Given the description of an element on the screen output the (x, y) to click on. 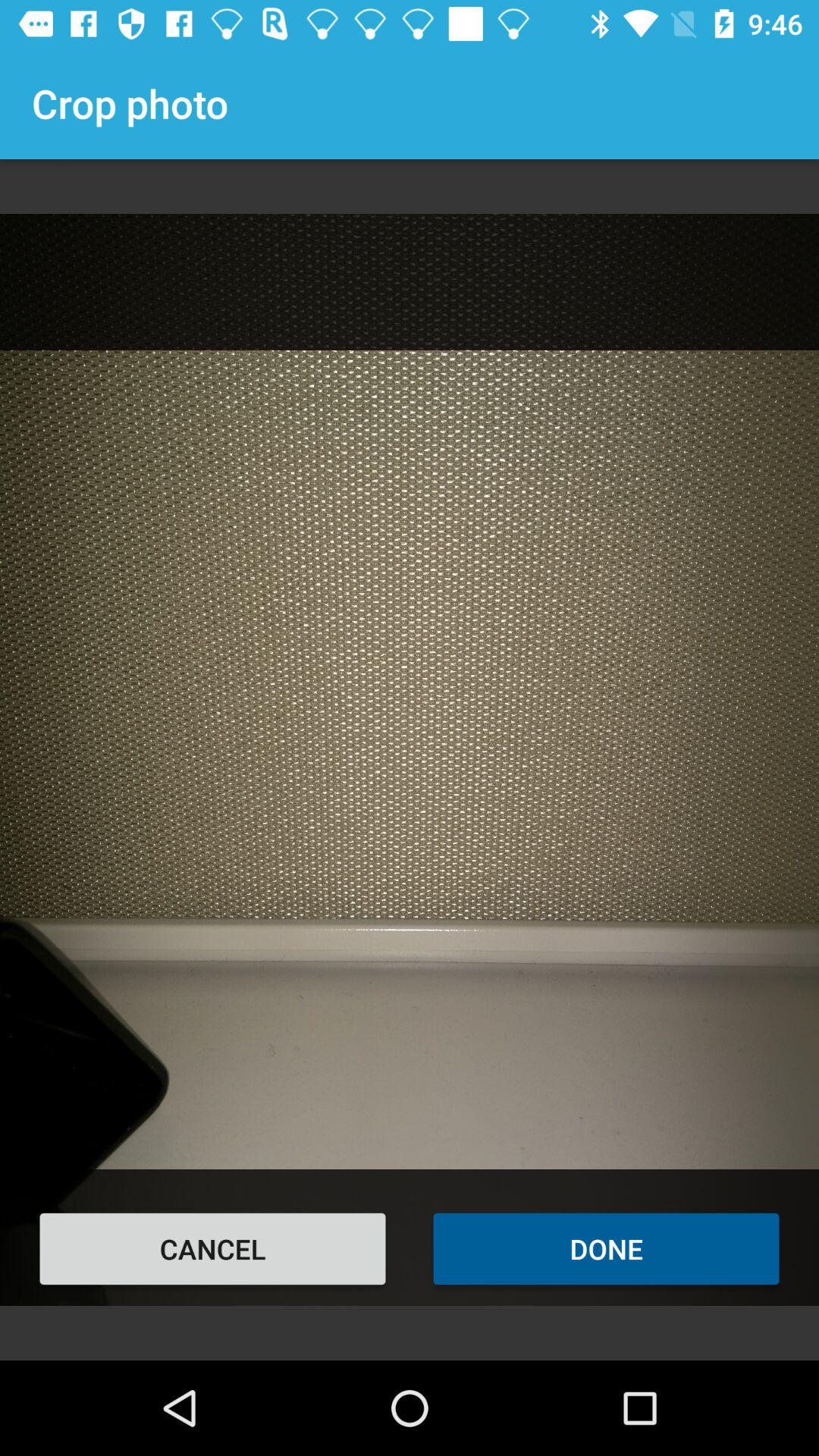
swipe until done item (606, 1248)
